Given the description of an element on the screen output the (x, y) to click on. 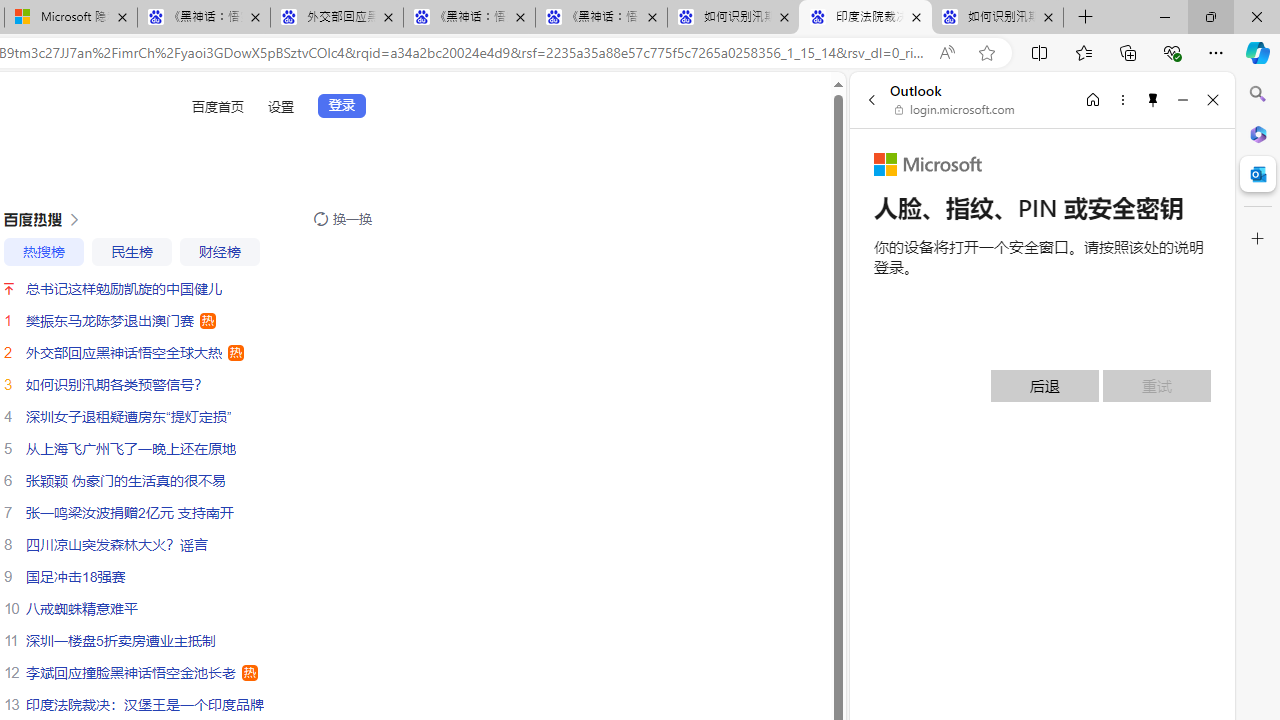
login.microsoft.com (955, 110)
